Given the description of an element on the screen output the (x, y) to click on. 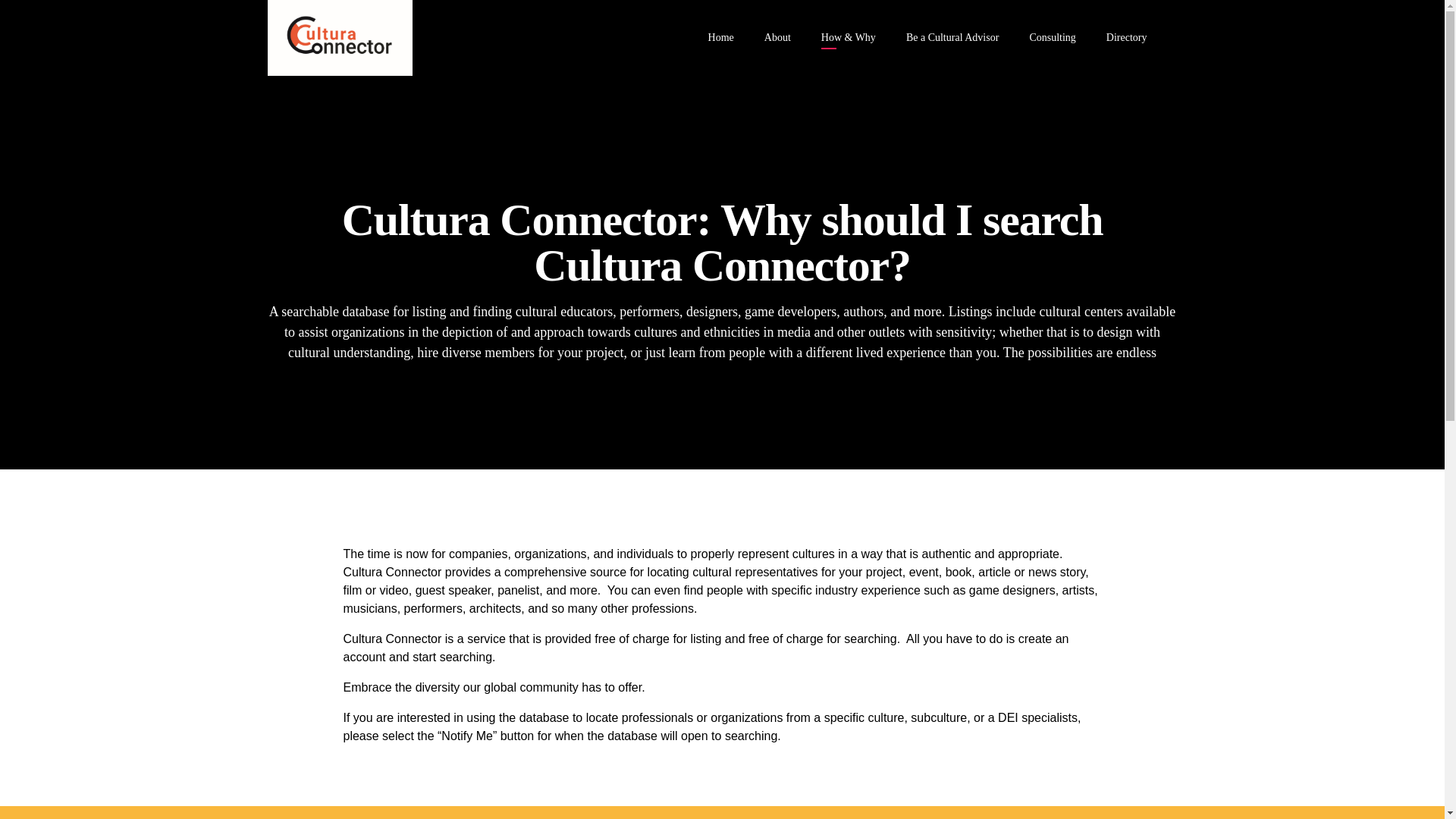
Be a Cultural Advisor (951, 38)
